Given the description of an element on the screen output the (x, y) to click on. 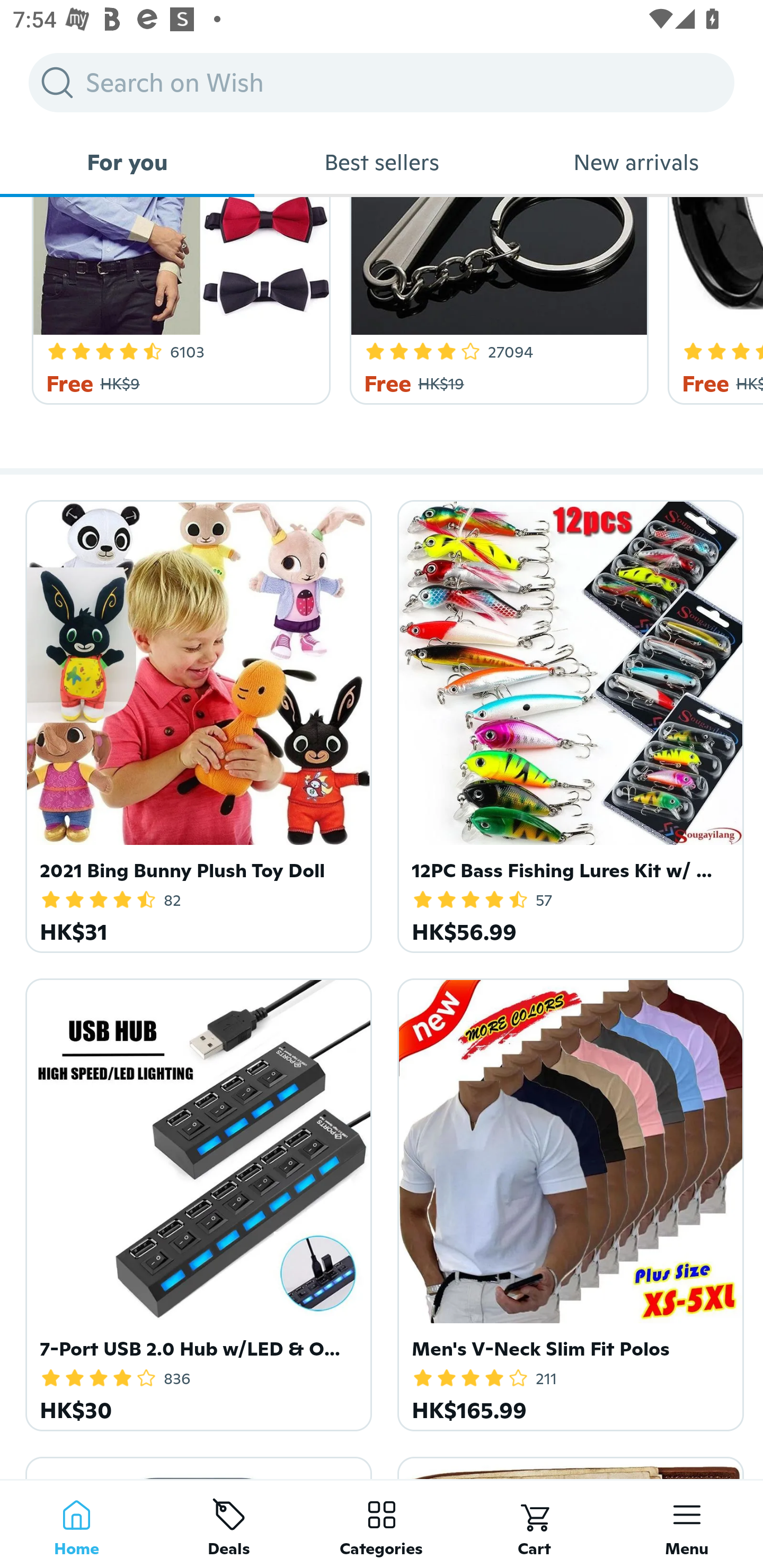
Search on Wish (381, 82)
For you (127, 161)
Best sellers (381, 161)
New arrivals (635, 161)
4.4 Star Rating 6103 Free HK$9 (177, 300)
4 Star Rating 27094 Free HK$19 (495, 300)
Home (76, 1523)
Deals (228, 1523)
Categories (381, 1523)
Cart (533, 1523)
Menu (686, 1523)
